Given the description of an element on the screen output the (x, y) to click on. 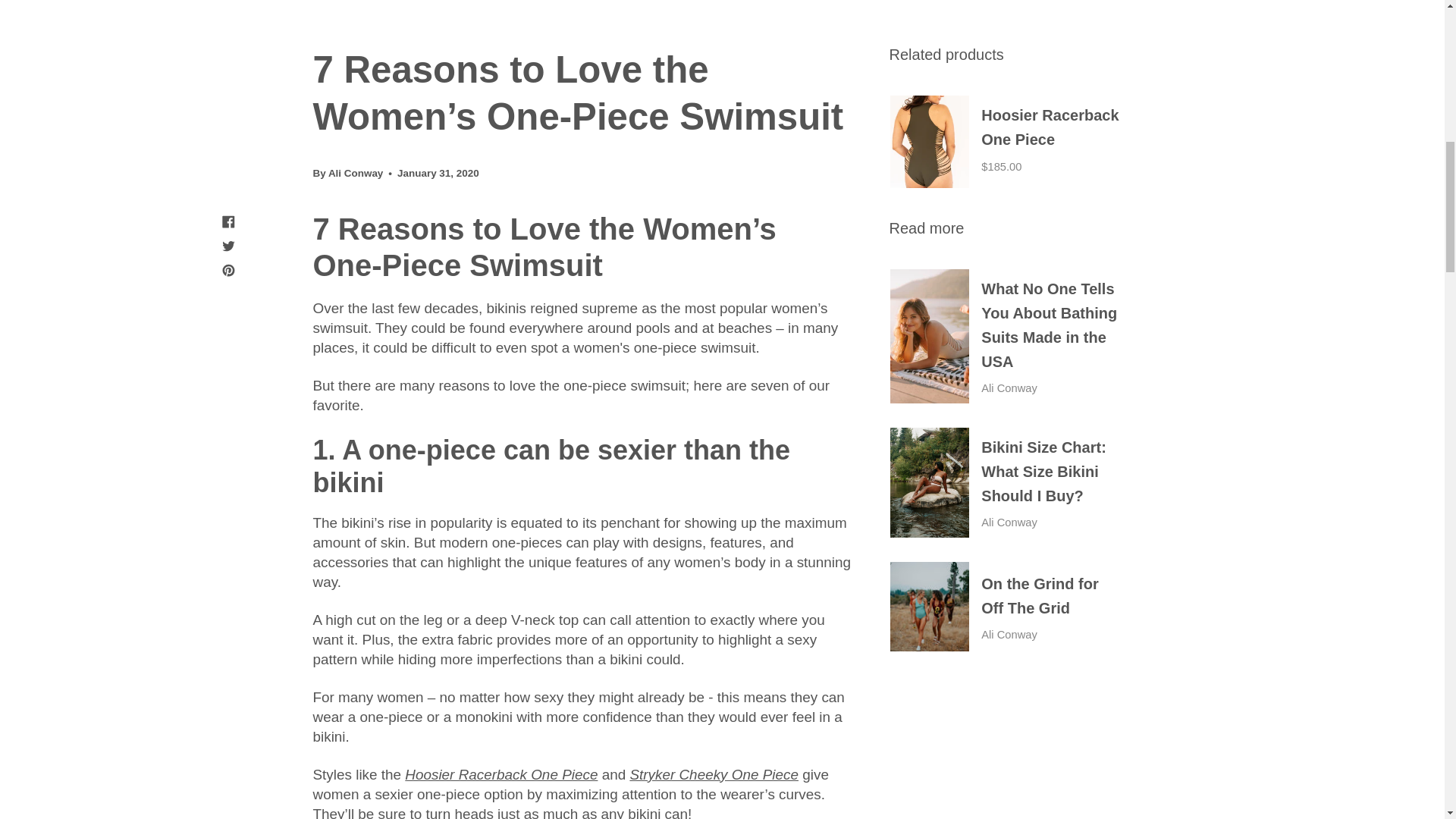
Hoosier Racerback One Piece (500, 773)
Stryker Cheeky One Piece (712, 773)
